Given the description of an element on the screen output the (x, y) to click on. 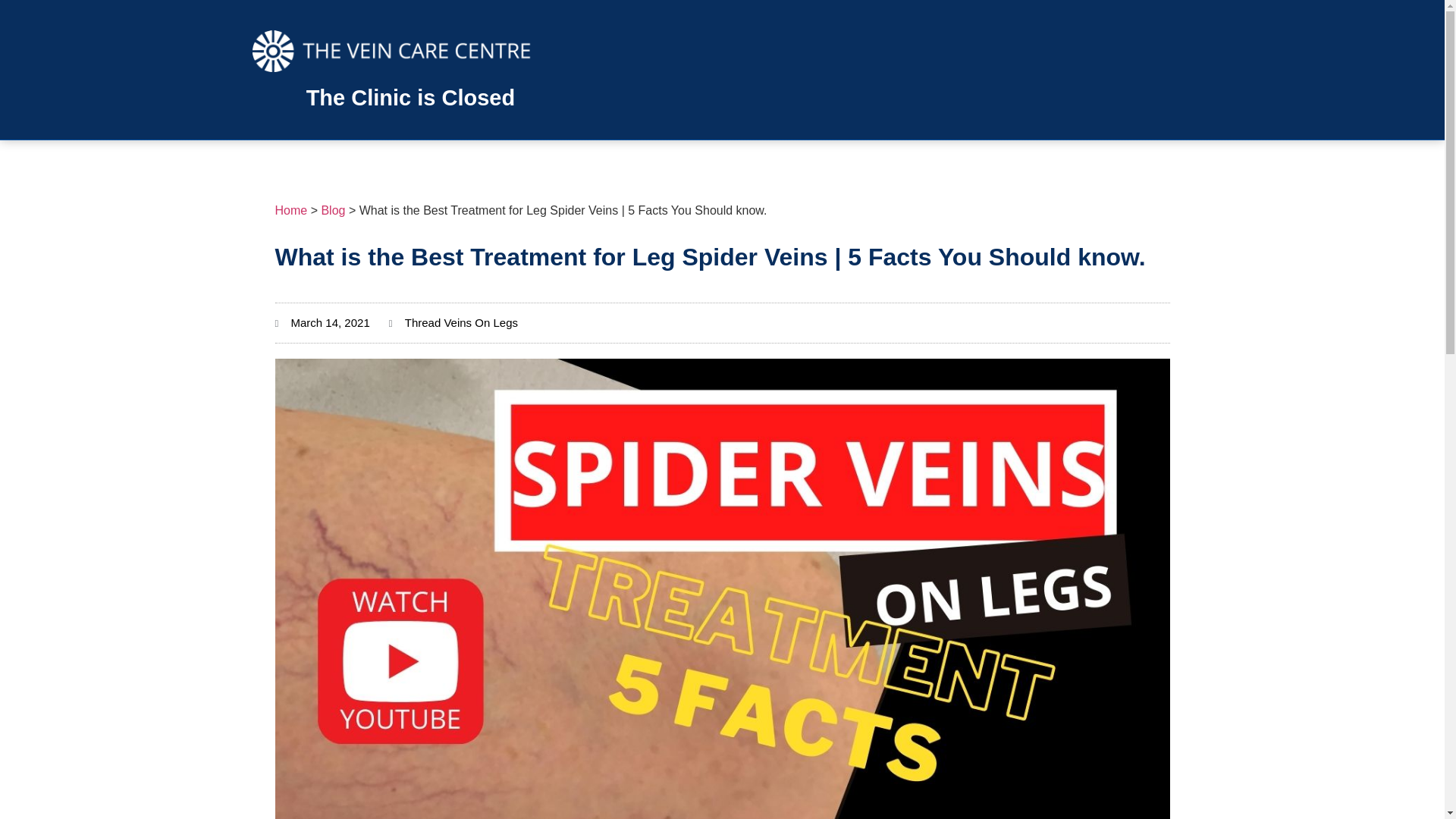
Blog (332, 210)
Thread Veins On Legs (461, 322)
Go to Blog. (332, 210)
March 14, 2021 (322, 323)
Home (291, 210)
Go to Home (291, 210)
